Given the description of an element on the screen output the (x, y) to click on. 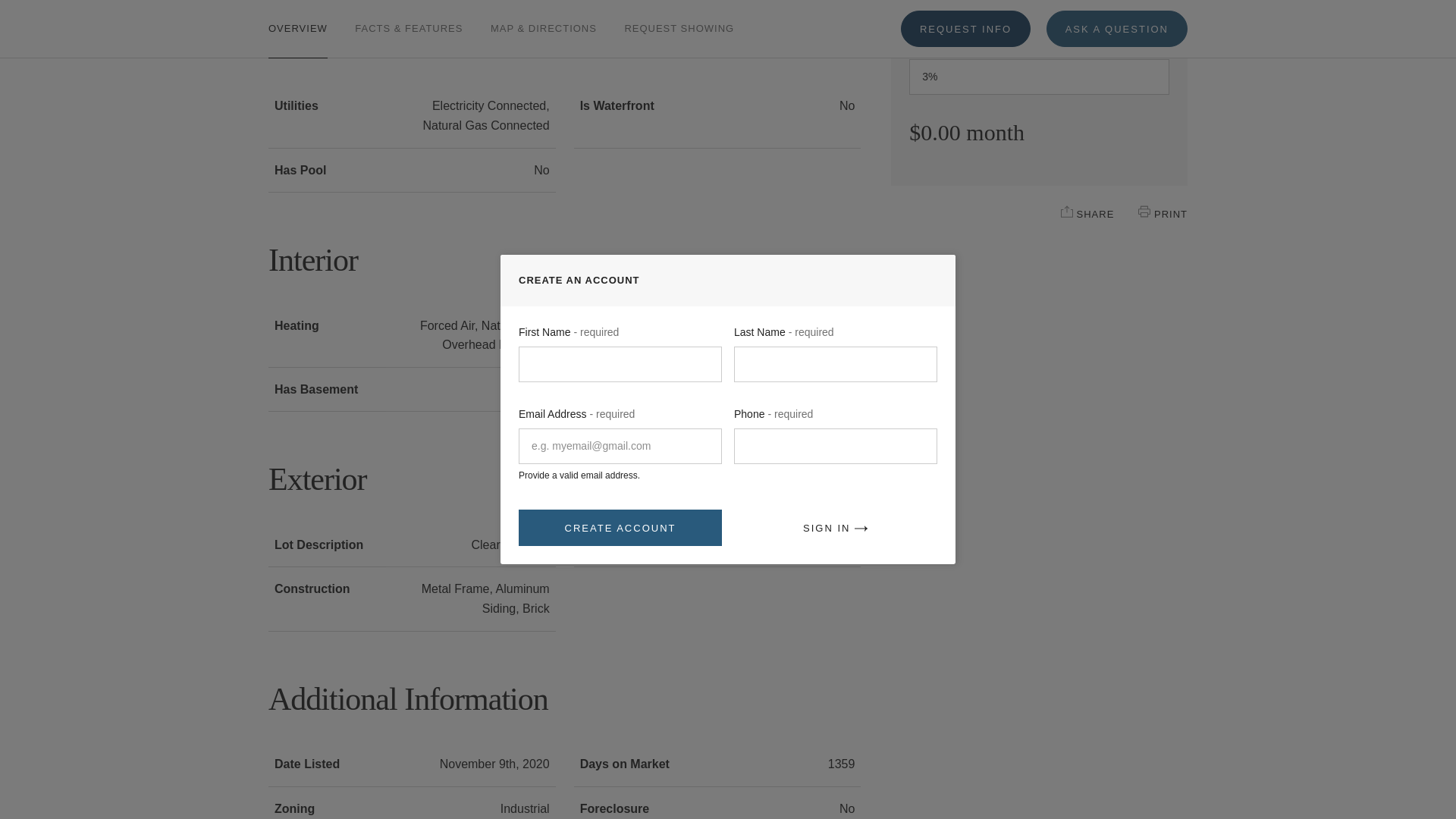
PRINT (1144, 211)
SHARE (1067, 211)
